Given the description of an element on the screen output the (x, y) to click on. 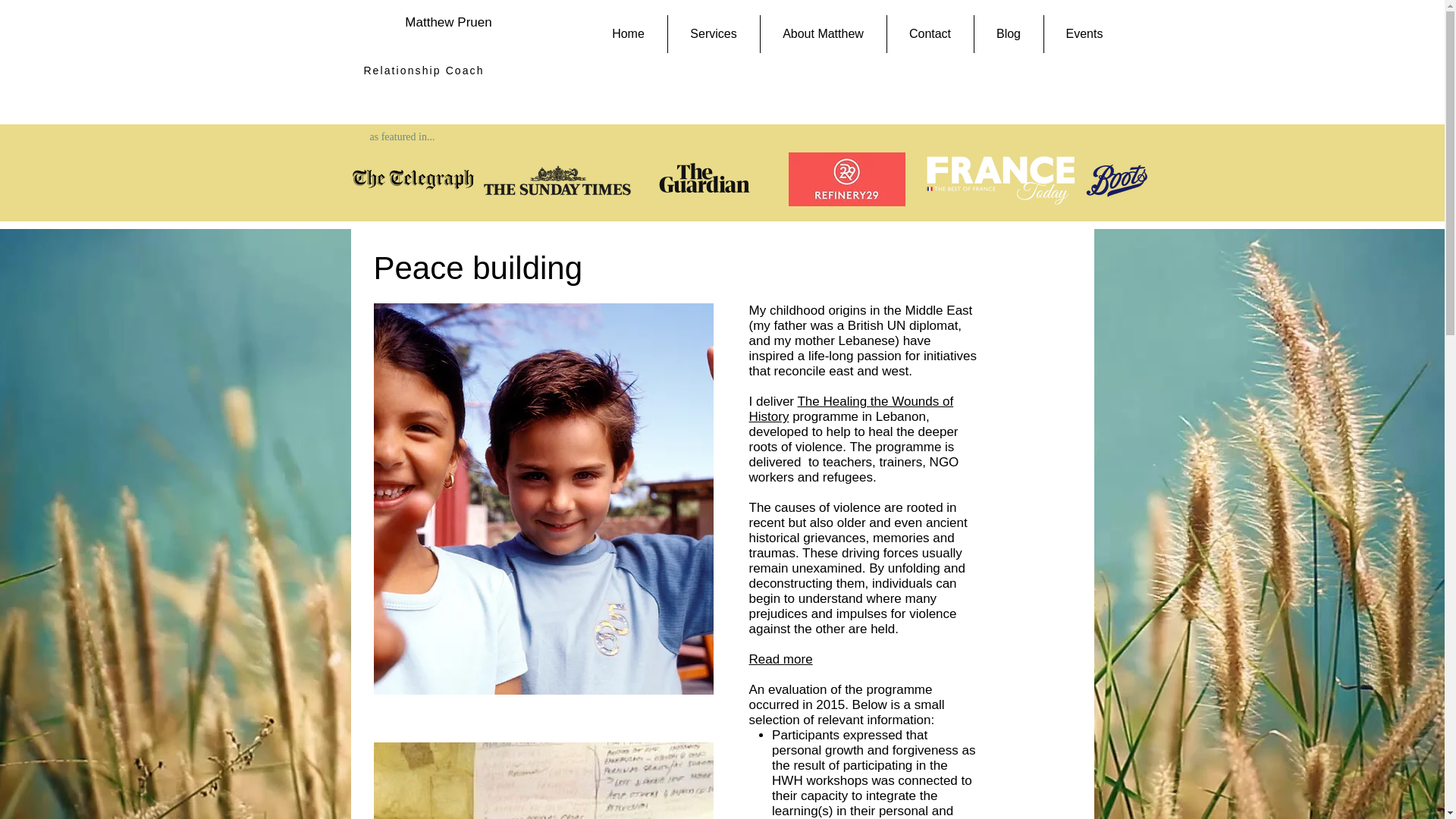
The Healing the Wounds of History (851, 408)
the-sunday-times-vector-logo.png (412, 179)
About Matthew (822, 34)
Relationship Coach (422, 70)
Group training (542, 780)
Read more (780, 658)
Boots-website-logo.png (1117, 180)
Events (1083, 34)
Home (627, 34)
Services (712, 34)
